Given the description of an element on the screen output the (x, y) to click on. 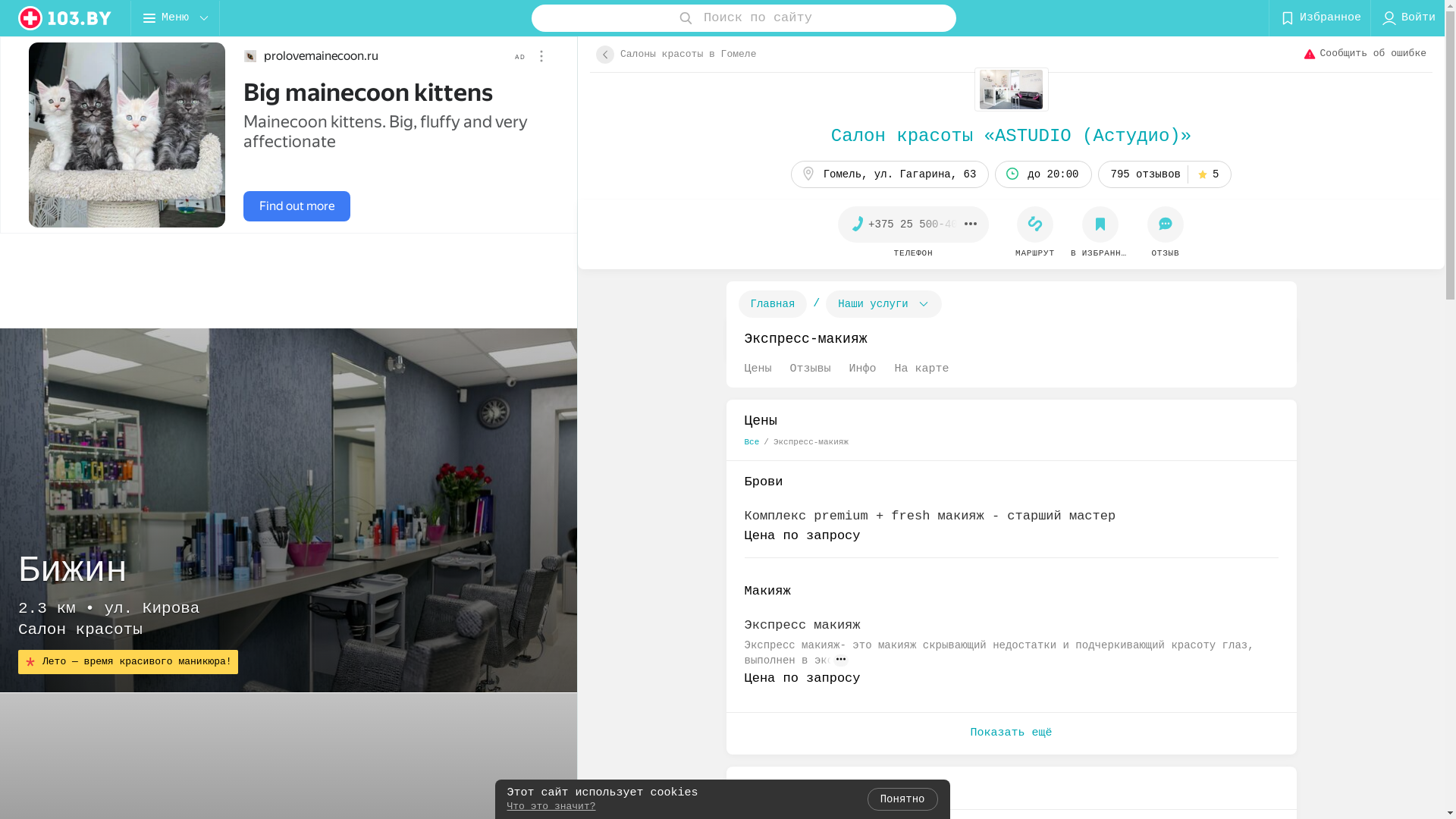
logo Element type: hover (65, 18)
